Given the description of an element on the screen output the (x, y) to click on. 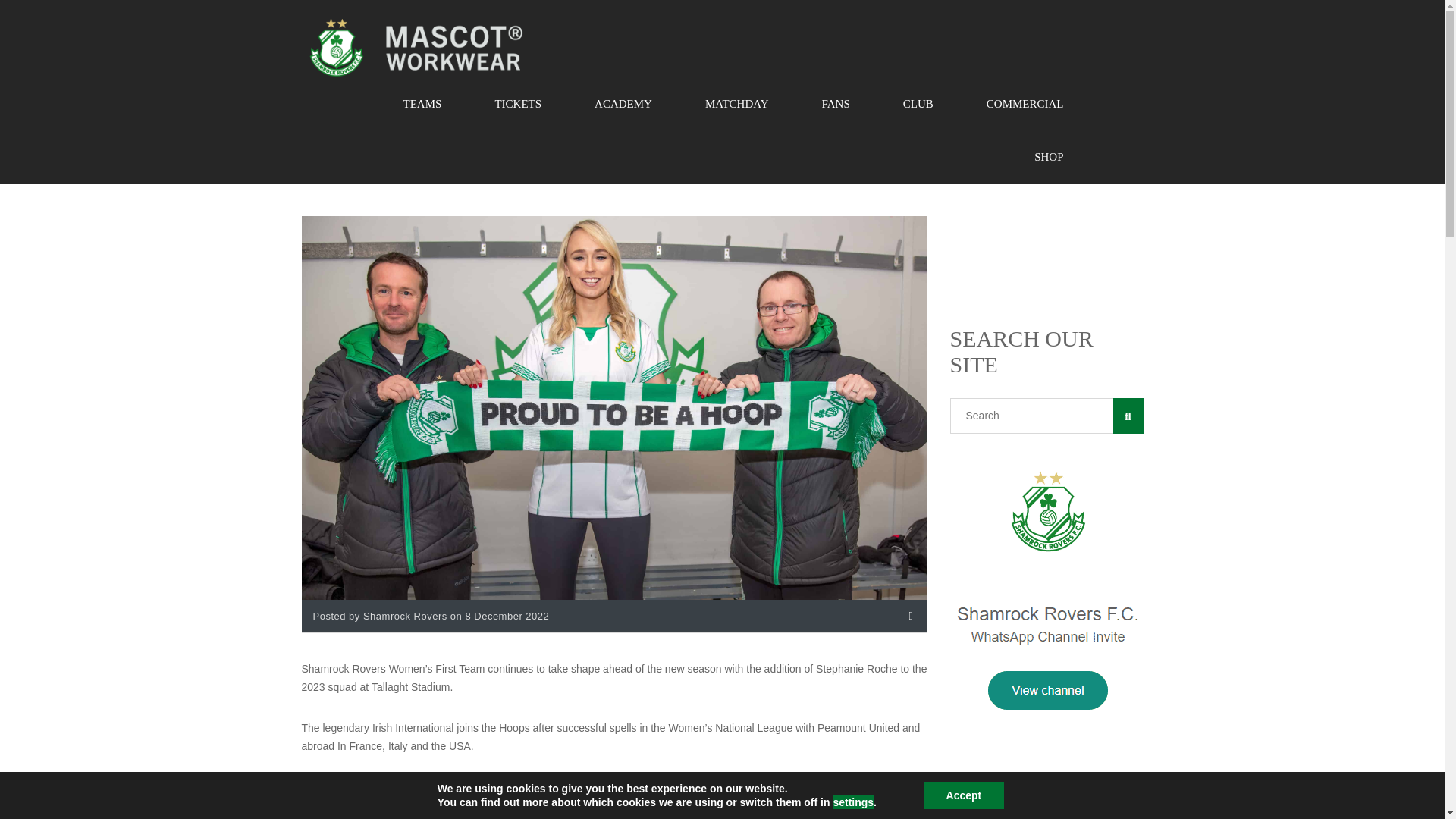
ACADEMY (622, 103)
TEAMS (422, 103)
Submit (337, 618)
Home (415, 47)
TICKETS (517, 103)
